Given the description of an element on the screen output the (x, y) to click on. 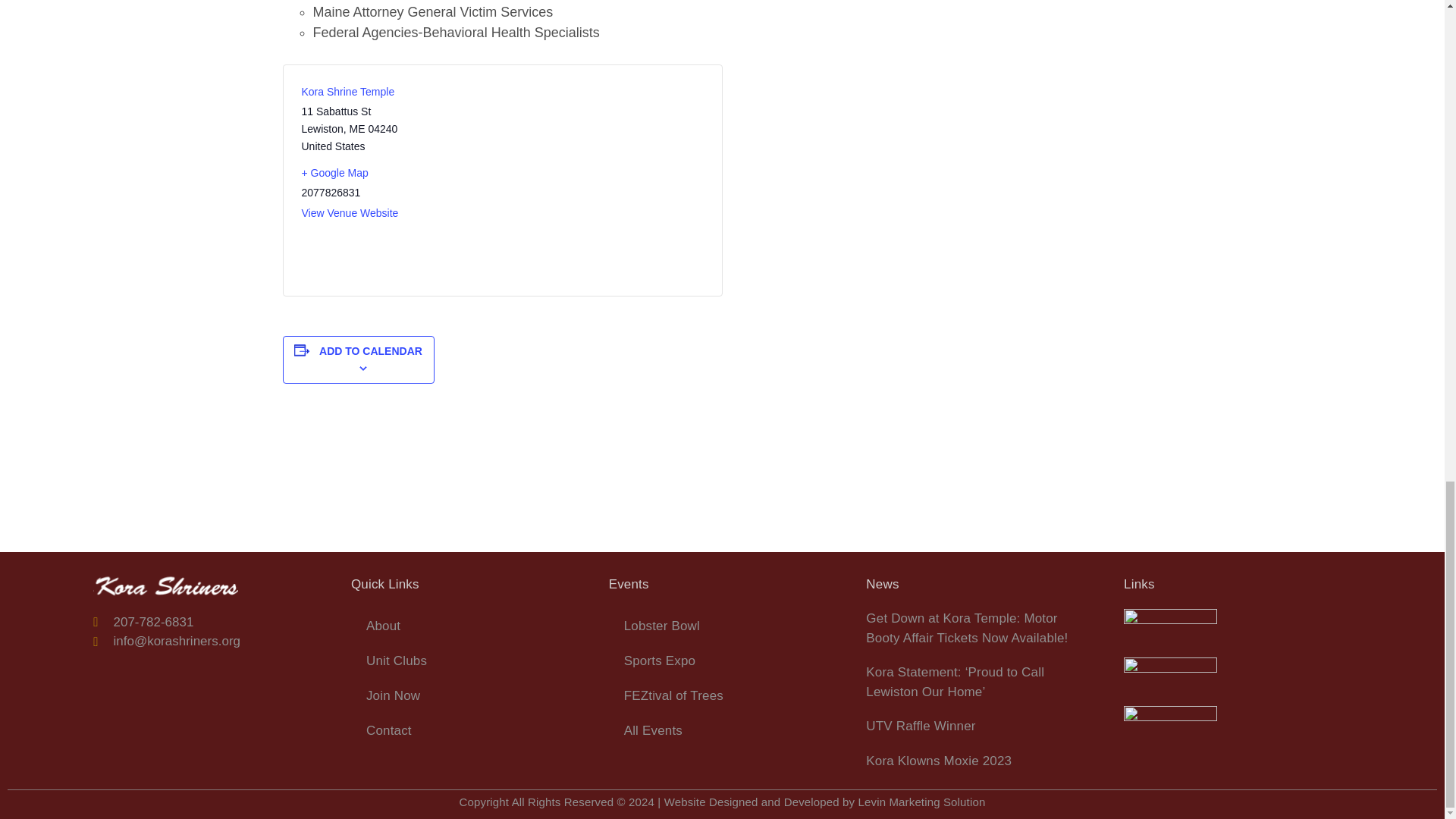
ADD TO CALENDAR (370, 350)
Maine (357, 128)
Click to view a Google Map (395, 172)
Kora Shrine Temple (347, 91)
View Venue Website (349, 213)
Kora Shrine Temple (347, 91)
